Given the description of an element on the screen output the (x, y) to click on. 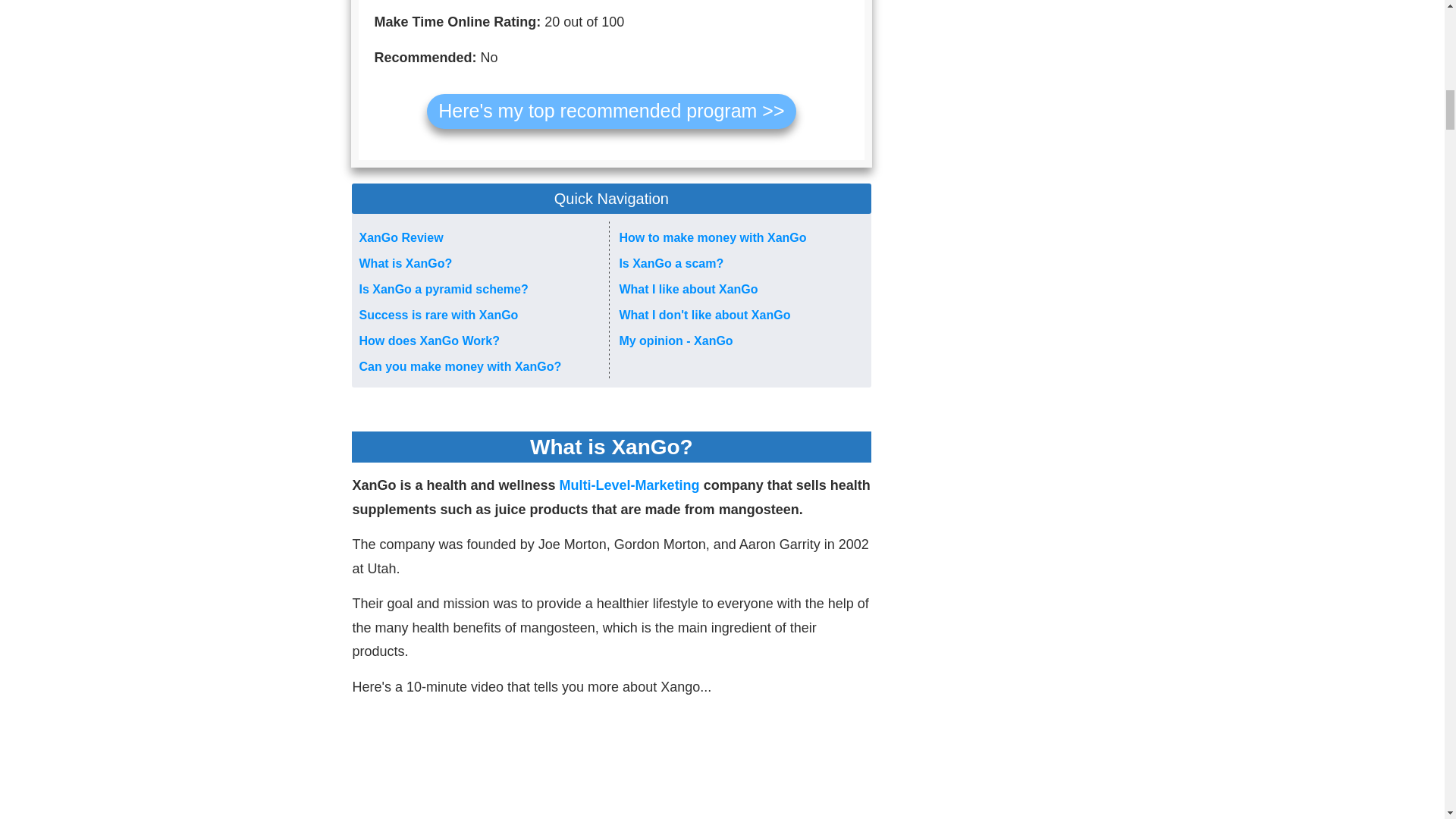
What I like about XanGo (687, 288)
Multi-Level-Marketing (629, 485)
How to make money with XanGo (712, 237)
Success is rare with XanGo (438, 314)
My opinion - XanGo (675, 340)
What I don't like about XanGo (704, 314)
Can you make money with XanGo? (460, 366)
How does XanGo Work? (429, 340)
Is XanGo a scam? (670, 263)
What is XanGo? (405, 263)
Is XanGo a pyramid scheme? (443, 288)
XanGo Review (401, 237)
